Given the description of an element on the screen output the (x, y) to click on. 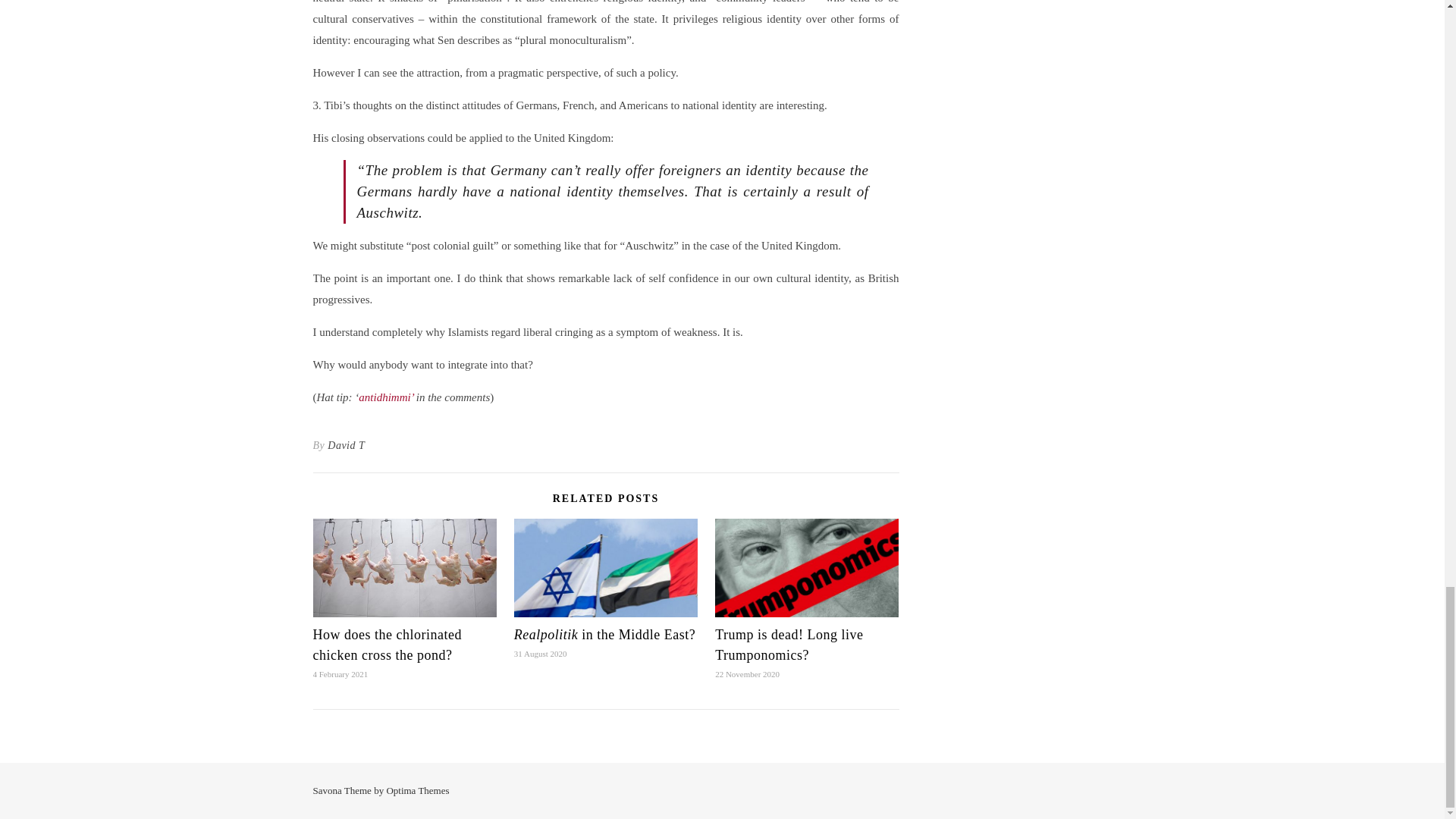
Posts by David T (346, 445)
Realpolitik in the Middle East? (604, 634)
Trump is dead! Long live Trumponomics? (788, 644)
How does the chlorinated chicken cross the pond? (387, 644)
David T (346, 445)
